Given the description of an element on the screen output the (x, y) to click on. 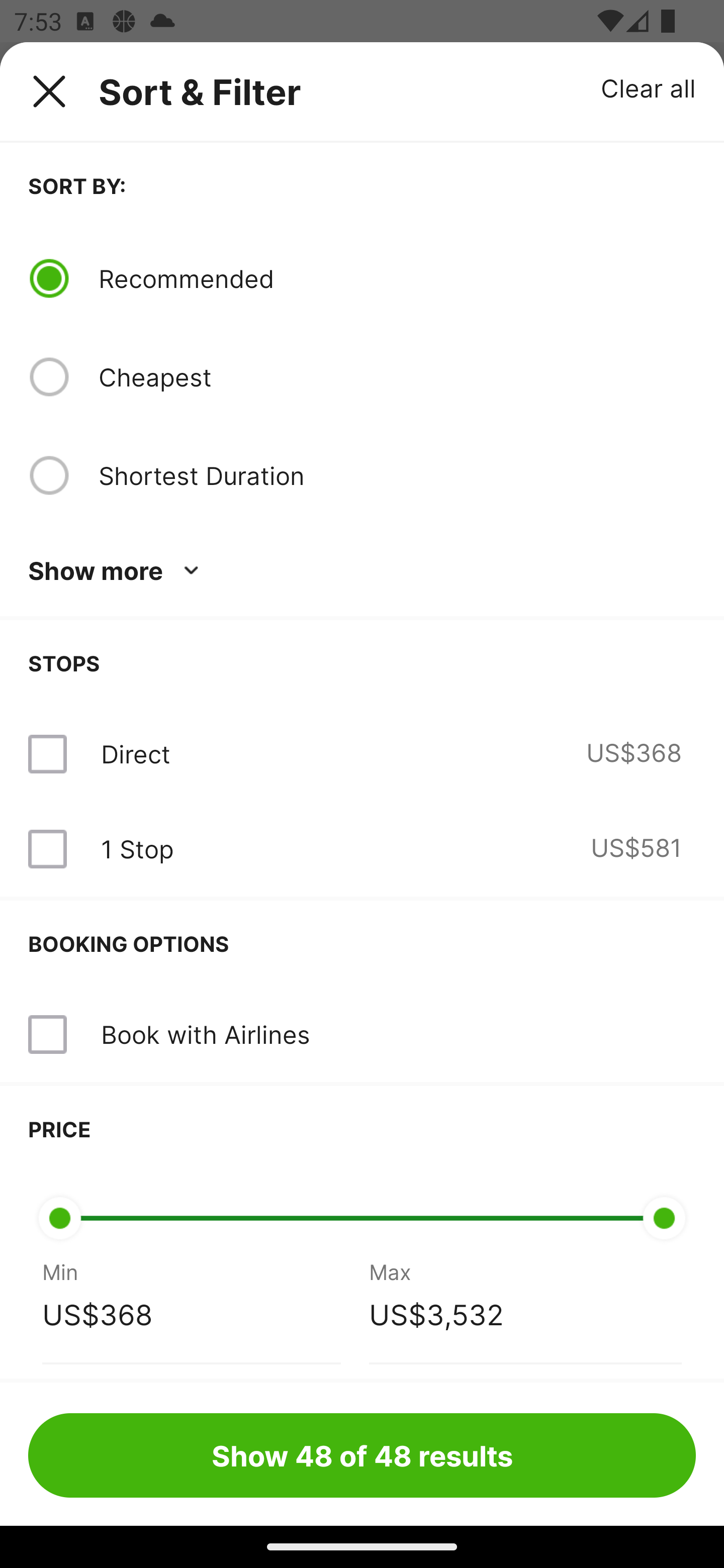
Clear all (648, 87)
Recommended  (396, 278)
Cheapest (396, 377)
Shortest Duration (396, 474)
Show more (116, 570)
Direct US$368 (362, 754)
Direct (135, 753)
1 Stop US$581 (362, 848)
1 Stop (136, 849)
Book with Airlines (362, 1033)
Book with Airlines (204, 1034)
Show 48 of 48 results (361, 1454)
